Given the description of an element on the screen output the (x, y) to click on. 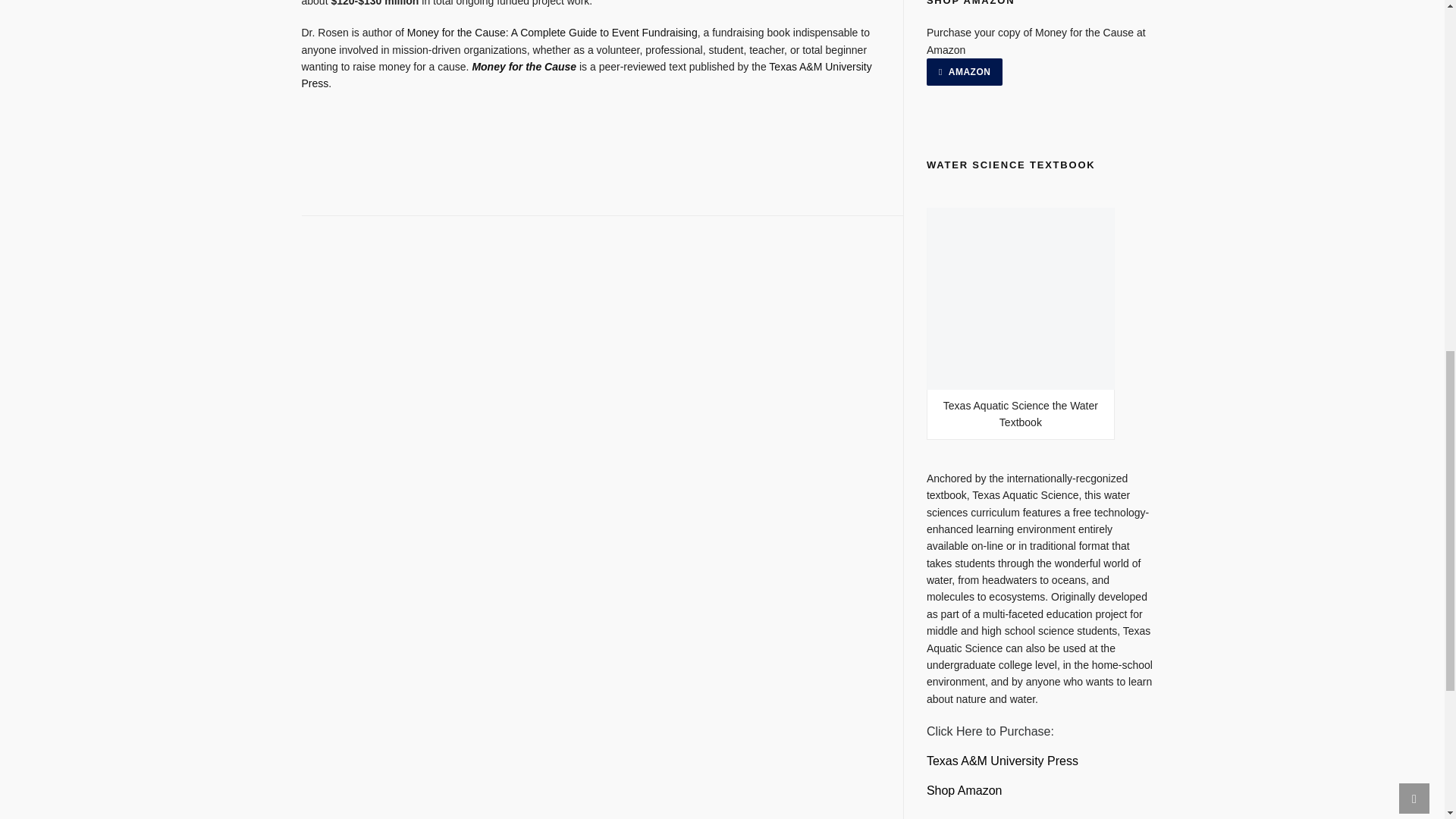
aquatic-science-rudy-rosen (1002, 760)
Money for the Cause: A Complete Guide to Event Fundraising (552, 32)
Money for the Cause (523, 66)
Fundraising Book by Rudy Rosen (552, 32)
Money for the Cause (586, 74)
Money for the Cause Website (523, 66)
